Given the description of an element on the screen output the (x, y) to click on. 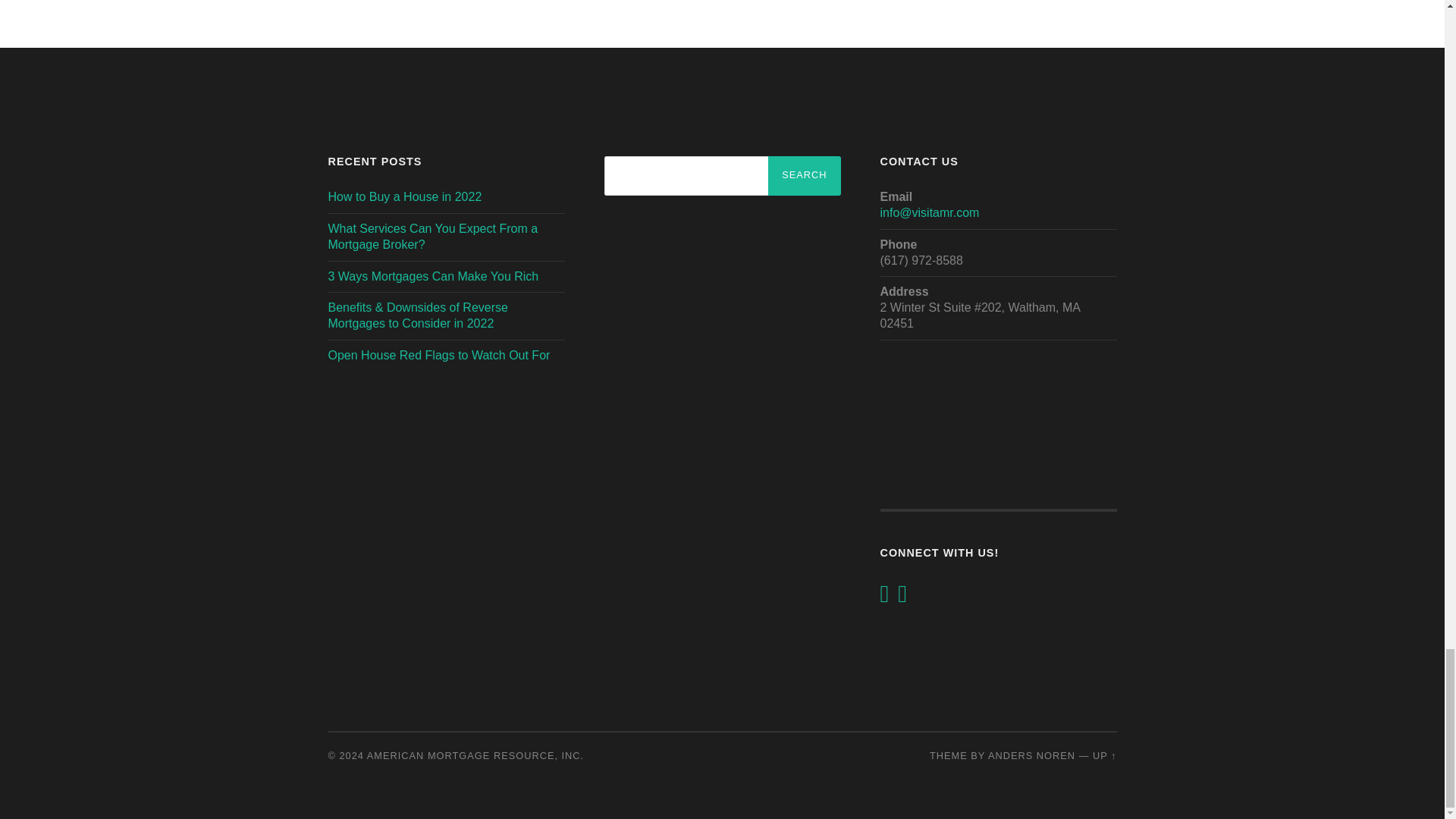
How to Buy a House in 2022 (404, 196)
Search (804, 175)
What Services Can You Expect From a Mortgage Broker? (432, 235)
Search (804, 175)
Open House Red Flags to Watch Out For (438, 354)
To the top (1104, 755)
3 Ways Mortgages Can Make You Rich (432, 276)
